Given the description of an element on the screen output the (x, y) to click on. 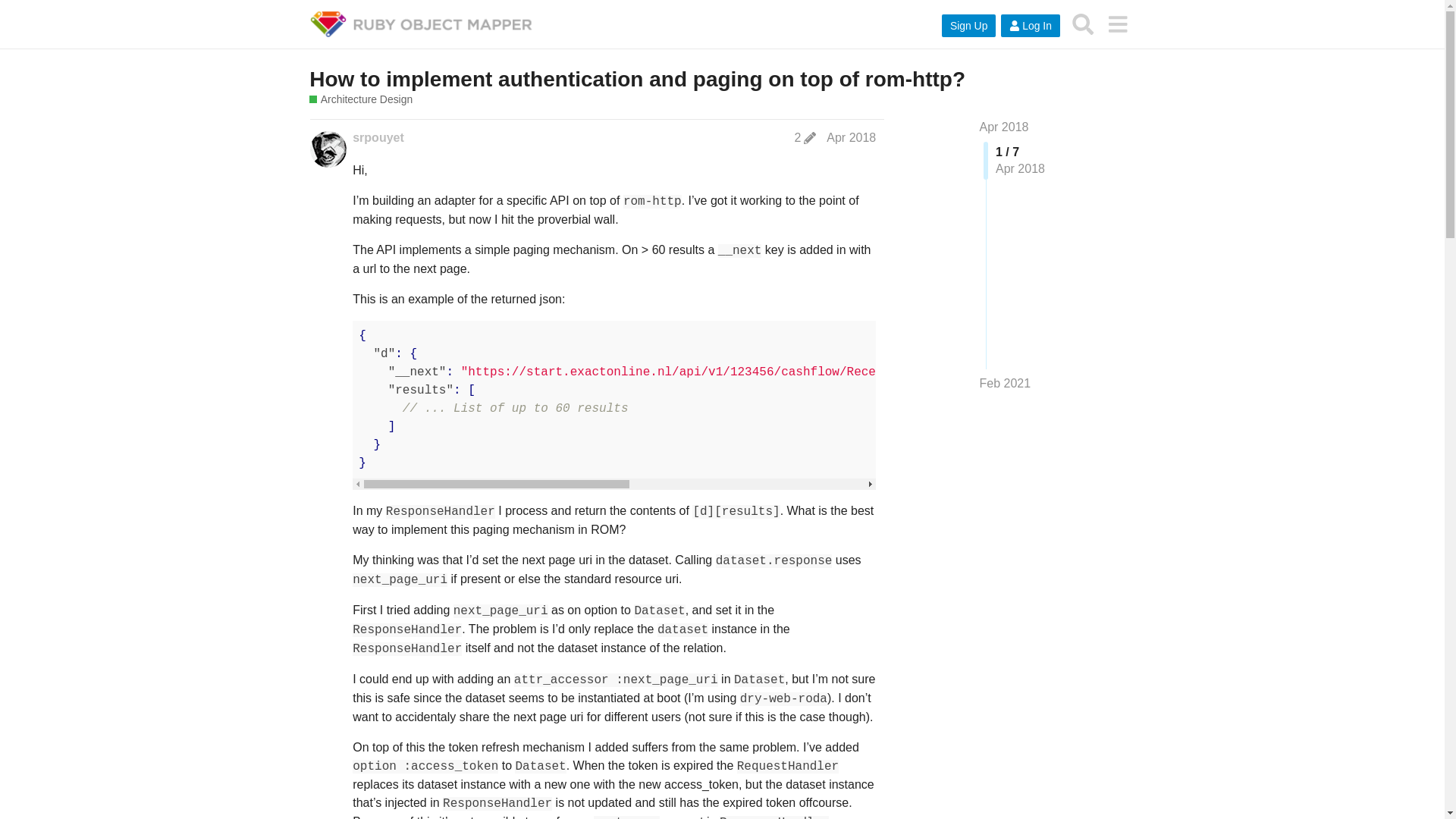
Apr 2018 (1004, 126)
Architecture Design (360, 99)
menu (1117, 23)
Log In (1030, 25)
A place to discuss architecture design when using ROM. (360, 99)
Feb 2021 (1004, 383)
Post date (851, 137)
2 (805, 137)
Jump to the last post (1004, 382)
post last edited on Apr 18, 2018 6:25 pm (805, 137)
Search (1082, 23)
srpouyet (378, 137)
Jump to the first post (1004, 126)
Sign Up (968, 25)
